Given the description of an element on the screen output the (x, y) to click on. 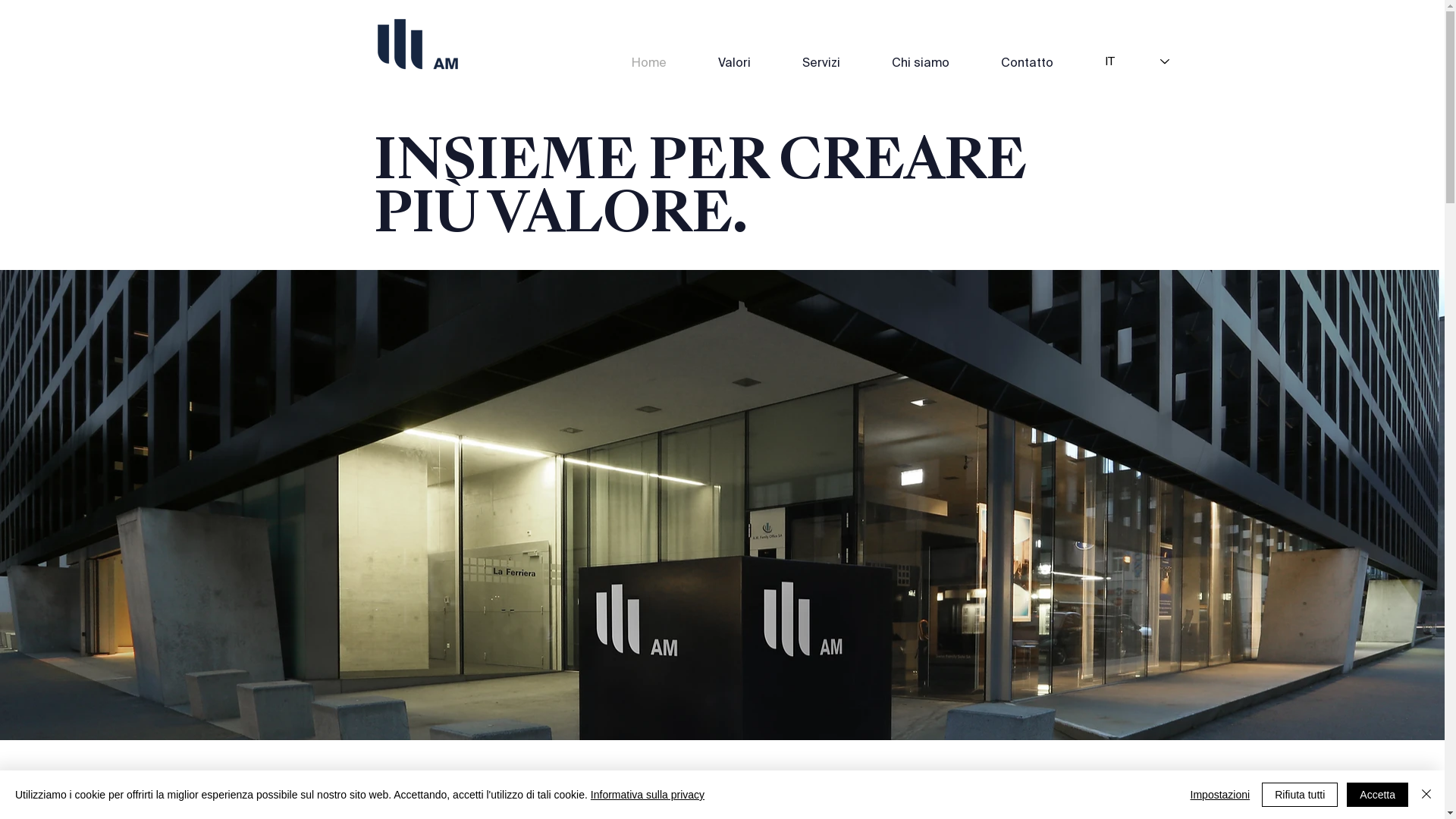
Chi siamo Element type: text (933, 63)
Servizi Element type: text (834, 63)
Home Element type: text (663, 63)
Rifiuta tutti Element type: text (1299, 794)
Accetta Element type: text (1377, 794)
Contatto Element type: text (1040, 63)
Valori Element type: text (748, 63)
Informativa sulla privacy Element type: text (647, 794)
